Given the description of an element on the screen output the (x, y) to click on. 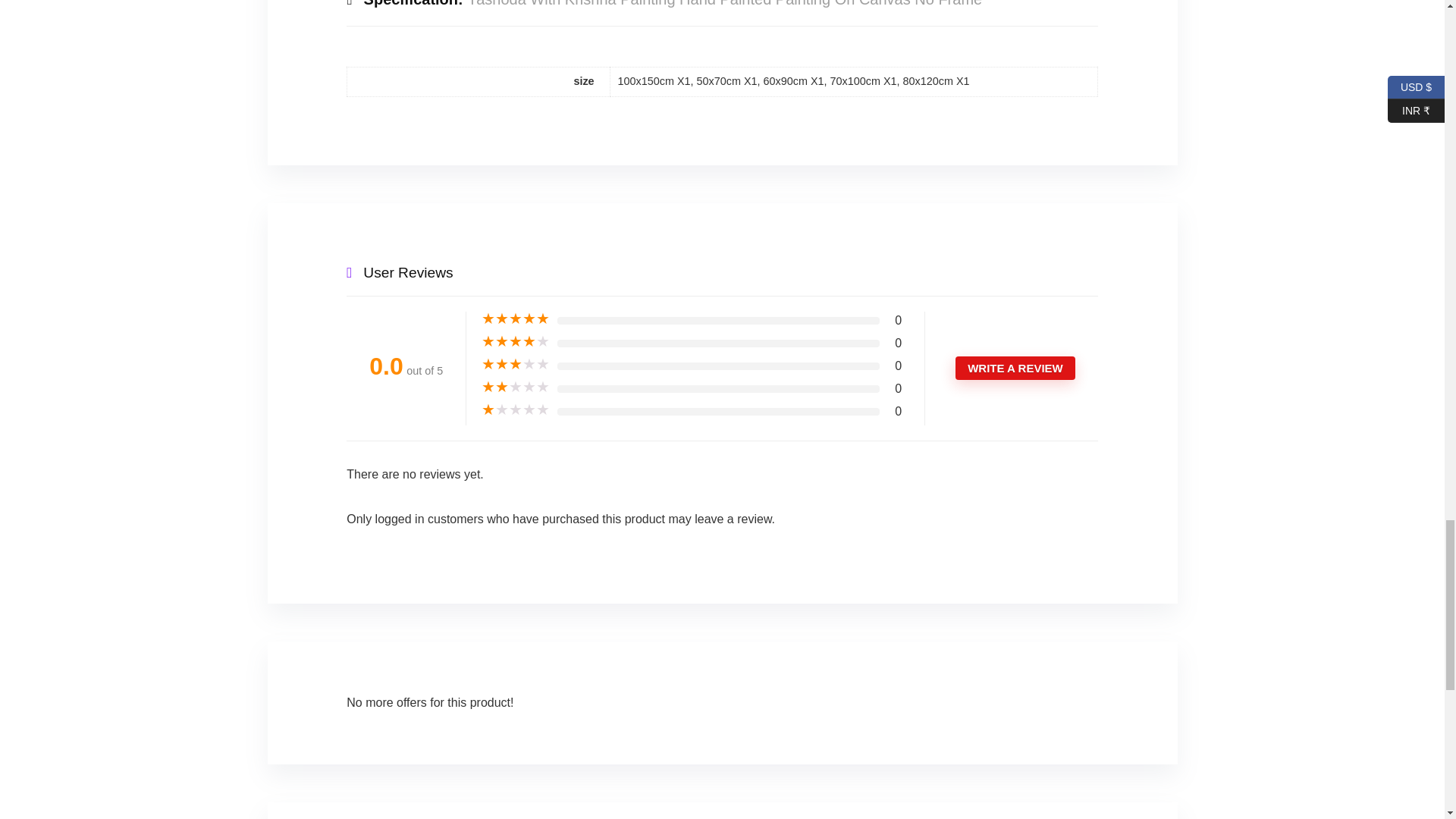
WRITE A REVIEW (1015, 368)
Rated 3 out of 5 (515, 364)
Rated 5 out of 5 (515, 319)
Rated 2 out of 5 (515, 387)
Rated 4 out of 5 (515, 341)
Rated 1 out of 5 (515, 409)
